Given the description of an element on the screen output the (x, y) to click on. 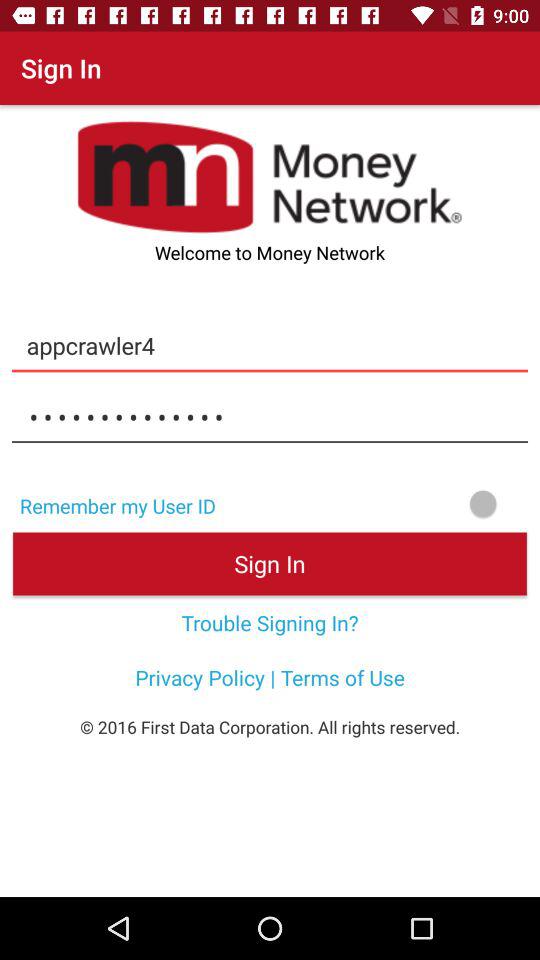
tap icon above privacy policy terms icon (270, 622)
